Given the description of an element on the screen output the (x, y) to click on. 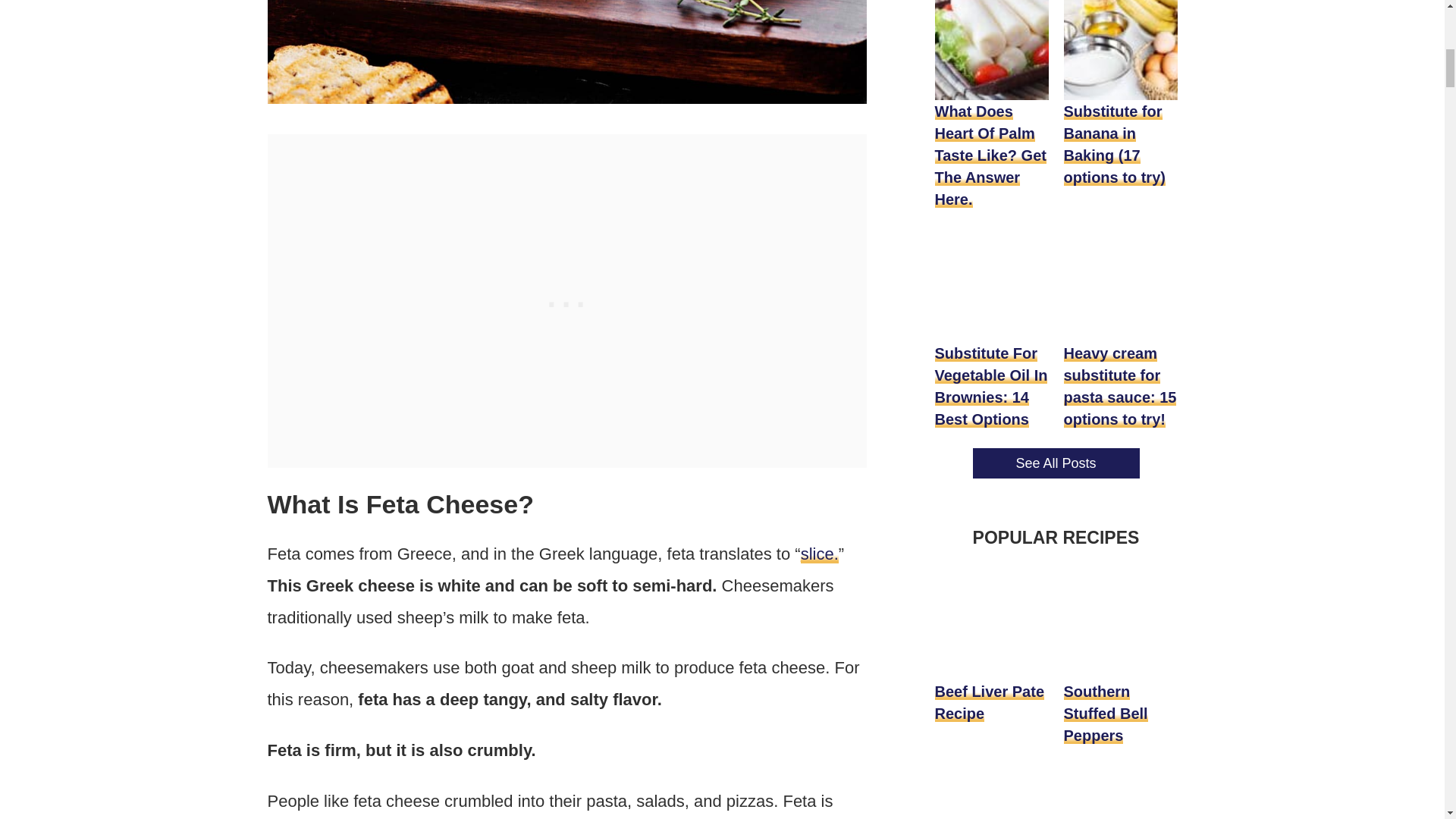
slice. (819, 553)
